Given the description of an element on the screen output the (x, y) to click on. 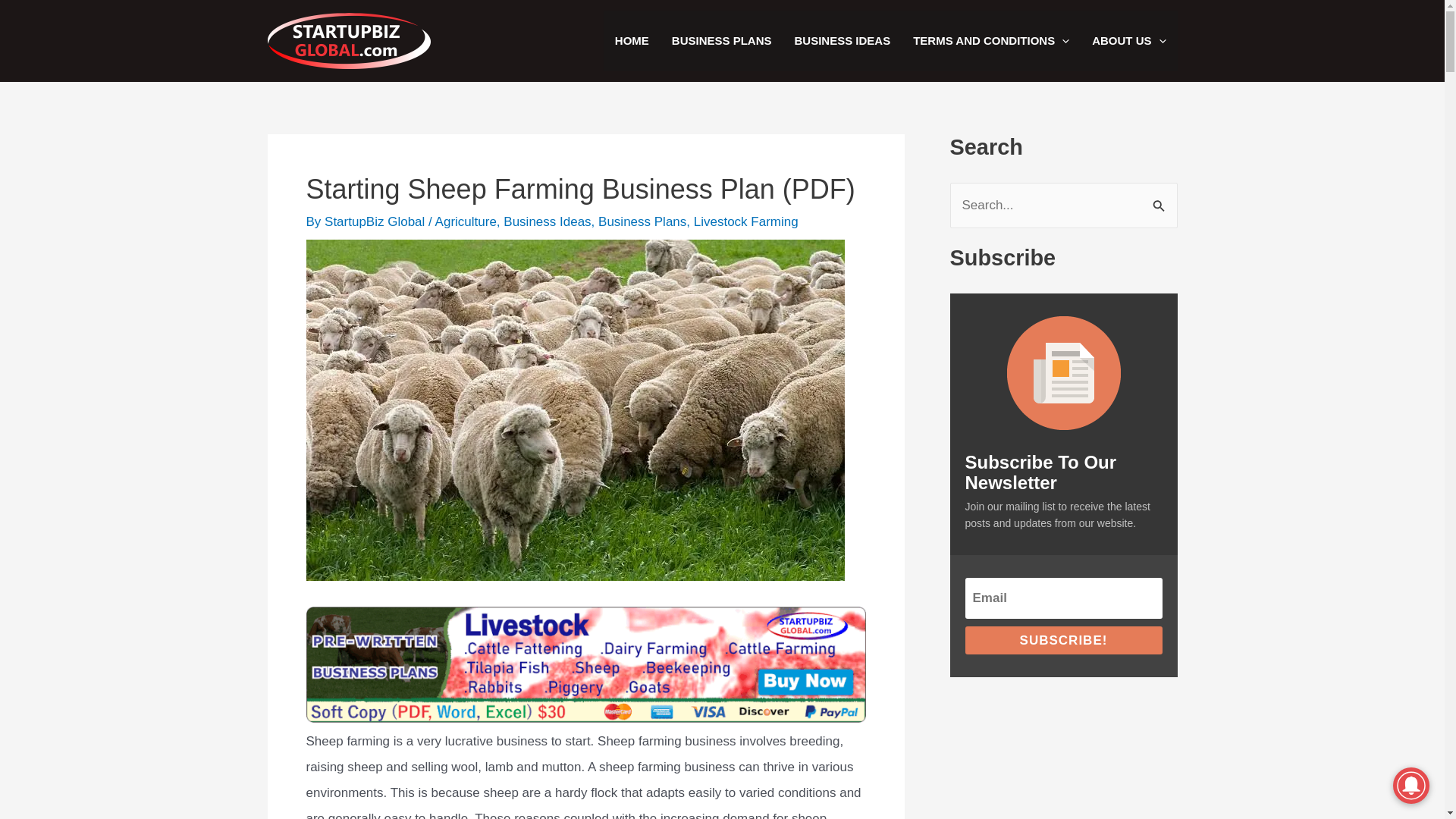
BUSINESS IDEAS (842, 40)
StartupBiz Global (376, 221)
Search (1159, 198)
BUSINESS PLANS (722, 40)
Livestock Farming (745, 221)
Agriculture (465, 221)
Business Plans (641, 221)
Search (1159, 198)
TERMS AND CONDITIONS (990, 40)
View all posts by StartupBiz Global (376, 221)
